Given the description of an element on the screen output the (x, y) to click on. 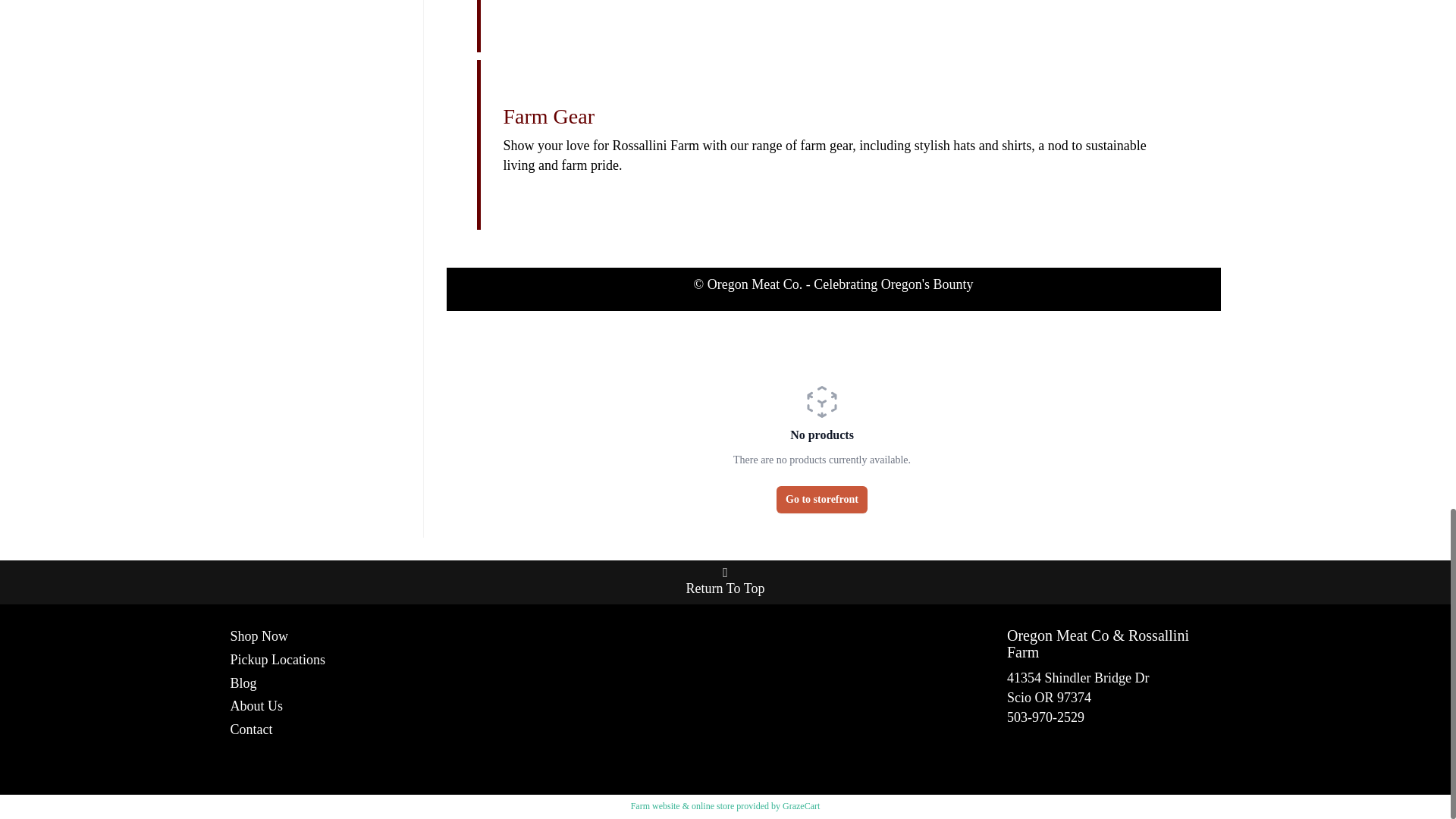
Pickup Locations (337, 662)
Go to storefront (821, 499)
About Us (337, 708)
Contact (337, 731)
Return To Top (724, 582)
Shop Now (337, 638)
Blog (337, 685)
Go to storefront (821, 499)
